Given the description of an element on the screen output the (x, y) to click on. 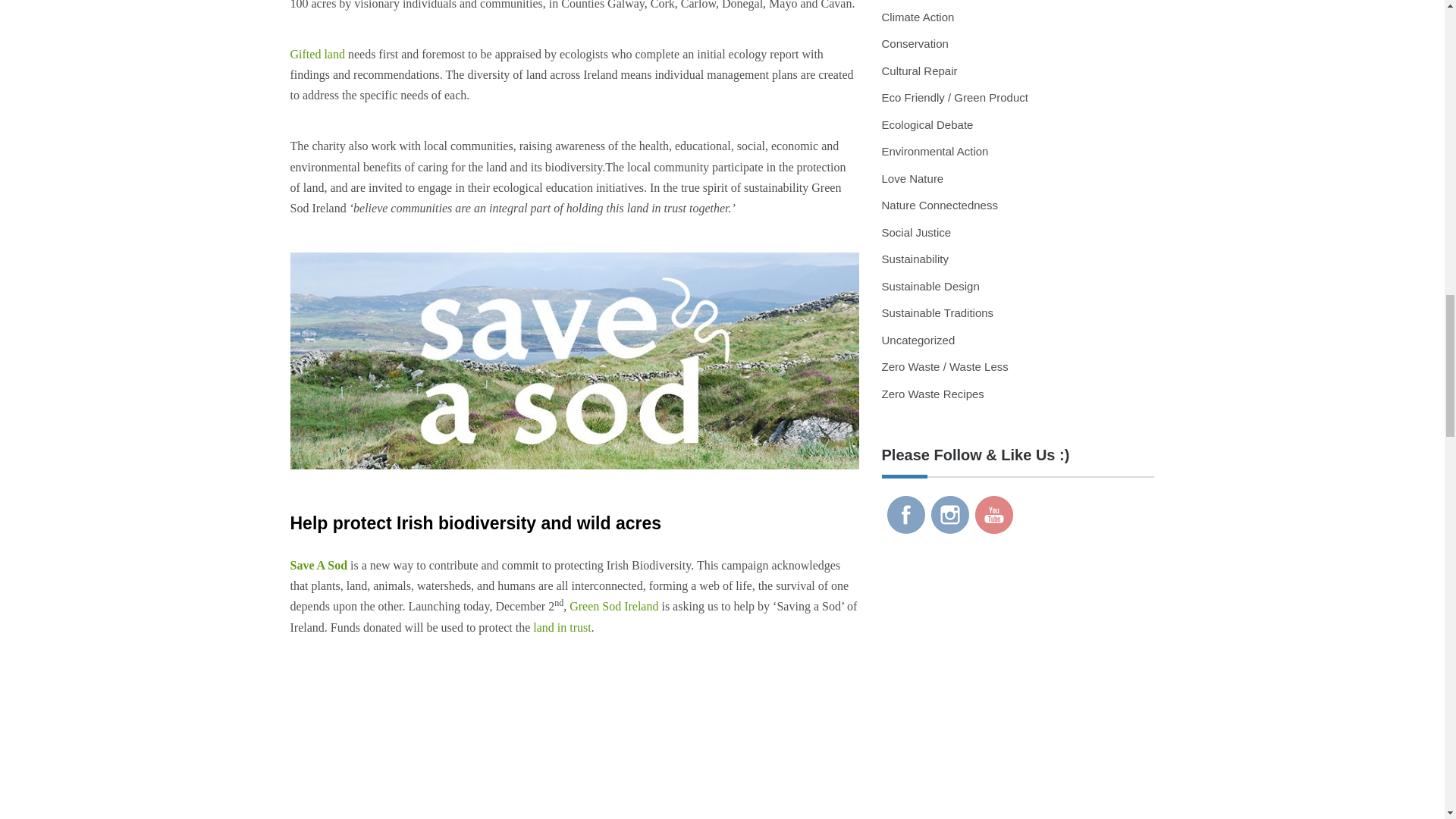
Greenhouse Culture Social (950, 514)
Greenhouse Culture Hub (905, 514)
land in trust (561, 626)
Greenhouse Culture Channel (994, 514)
Green Sod Ireland (613, 605)
YouTube player (574, 745)
Save A Sod (318, 564)
Gifted land (316, 53)
